Given the description of an element on the screen output the (x, y) to click on. 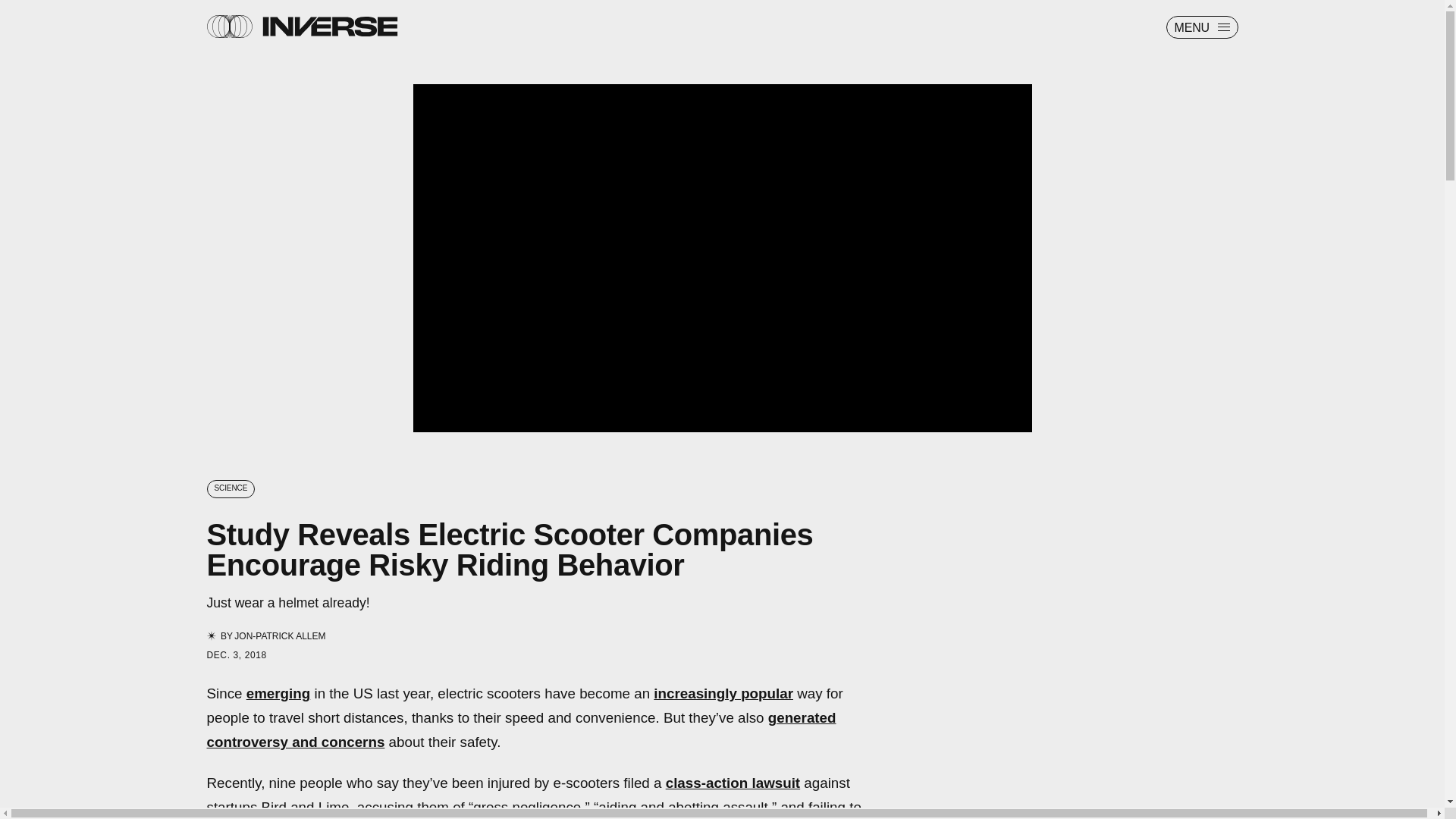
generated controversy and concerns (520, 730)
increasingly popular (723, 693)
Inverse (328, 26)
emerging (278, 693)
class-action lawsuit (732, 782)
